Given the description of an element on the screen output the (x, y) to click on. 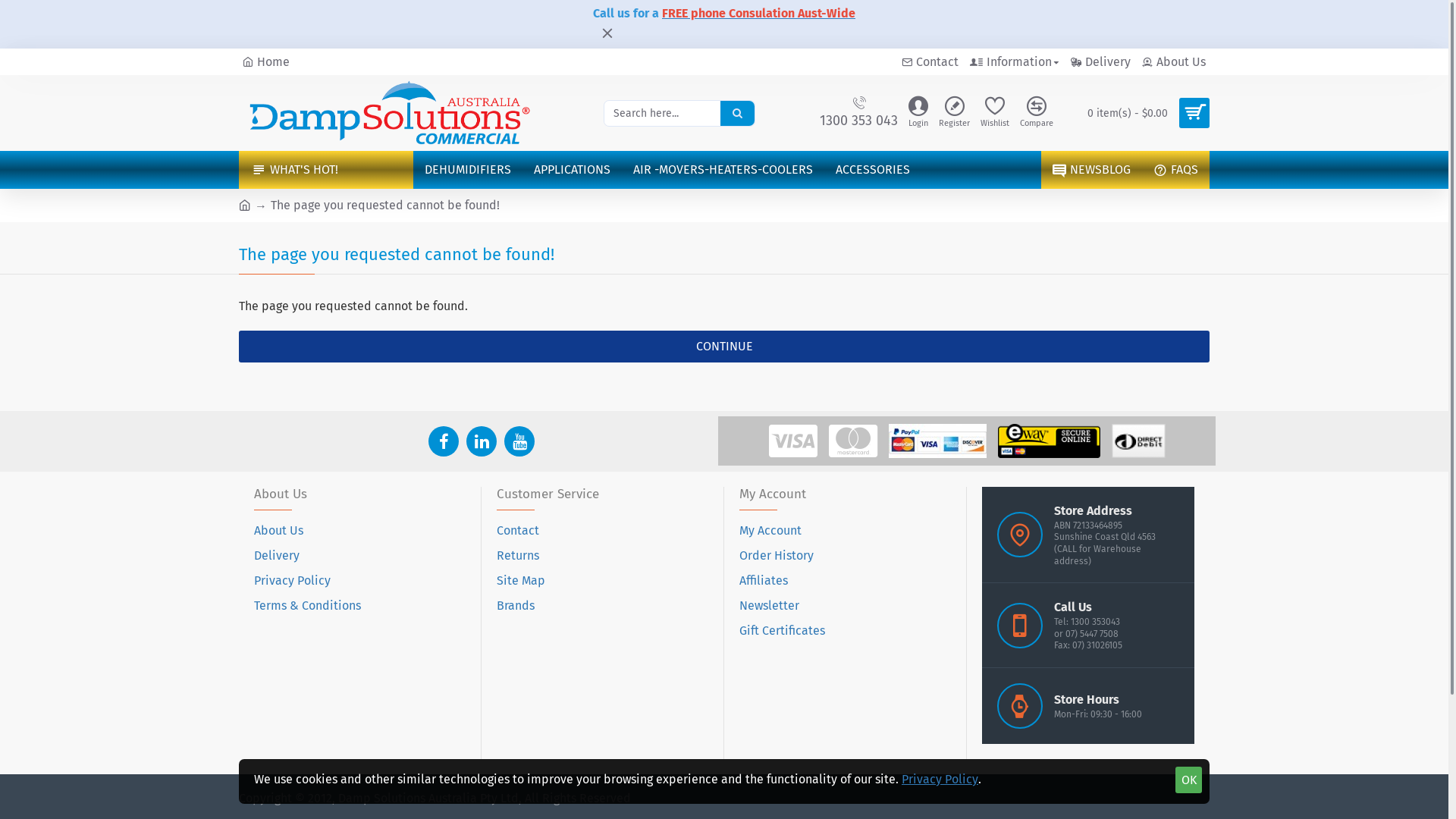
Delivery Element type: text (276, 558)
NEWSBLOG Element type: text (1091, 169)
Wishlist Element type: text (994, 113)
Delivery Element type: text (1100, 62)
Order History Element type: text (776, 558)
Site Map Element type: text (520, 583)
Home Element type: text (265, 61)
WHAT'S HOT! Element type: text (325, 169)
Contact Element type: text (929, 62)
Register Element type: text (954, 113)
About Us Element type: text (278, 533)
Call Us
Tel: 1300 353043
or 07) 5447 7508
Fax: 07) 31026105 Element type: text (1088, 625)
Affiliates Element type: text (763, 583)
Contact Element type: text (517, 533)
The page you requested cannot be found! Element type: text (384, 205)
AIR -MOVERS-HEATERS-COOLERS Element type: text (722, 169)
Brands Element type: text (515, 608)
About Us Element type: text (1173, 62)
Compare Element type: text (1036, 113)
Privacy Policy Element type: text (292, 583)
Terms & Conditions Element type: text (307, 608)
Login Element type: text (917, 113)
ACCESSORIES Element type: text (872, 169)
Gift Certificates Element type: text (782, 633)
FREE phone Consulation Aust-Wide Element type: text (758, 13)
APPLICATIONS Element type: text (571, 169)
1300 353 043 Element type: text (858, 112)
DEHUMIDIFIERS Element type: text (467, 169)
0 item(s) - $0.00 Element type: text (1142, 112)
Information Element type: text (1014, 62)
Privacy Policy Element type: text (939, 779)
FAQS Element type: text (1175, 169)
CONTINUE Element type: text (723, 346)
Damp Solutions Australia | Commercial Element type: hover (390, 112)
My Account Element type: text (770, 533)
Returns Element type: text (517, 558)
Newsletter Element type: text (769, 608)
OK Element type: text (1188, 779)
